Given the description of an element on the screen output the (x, y) to click on. 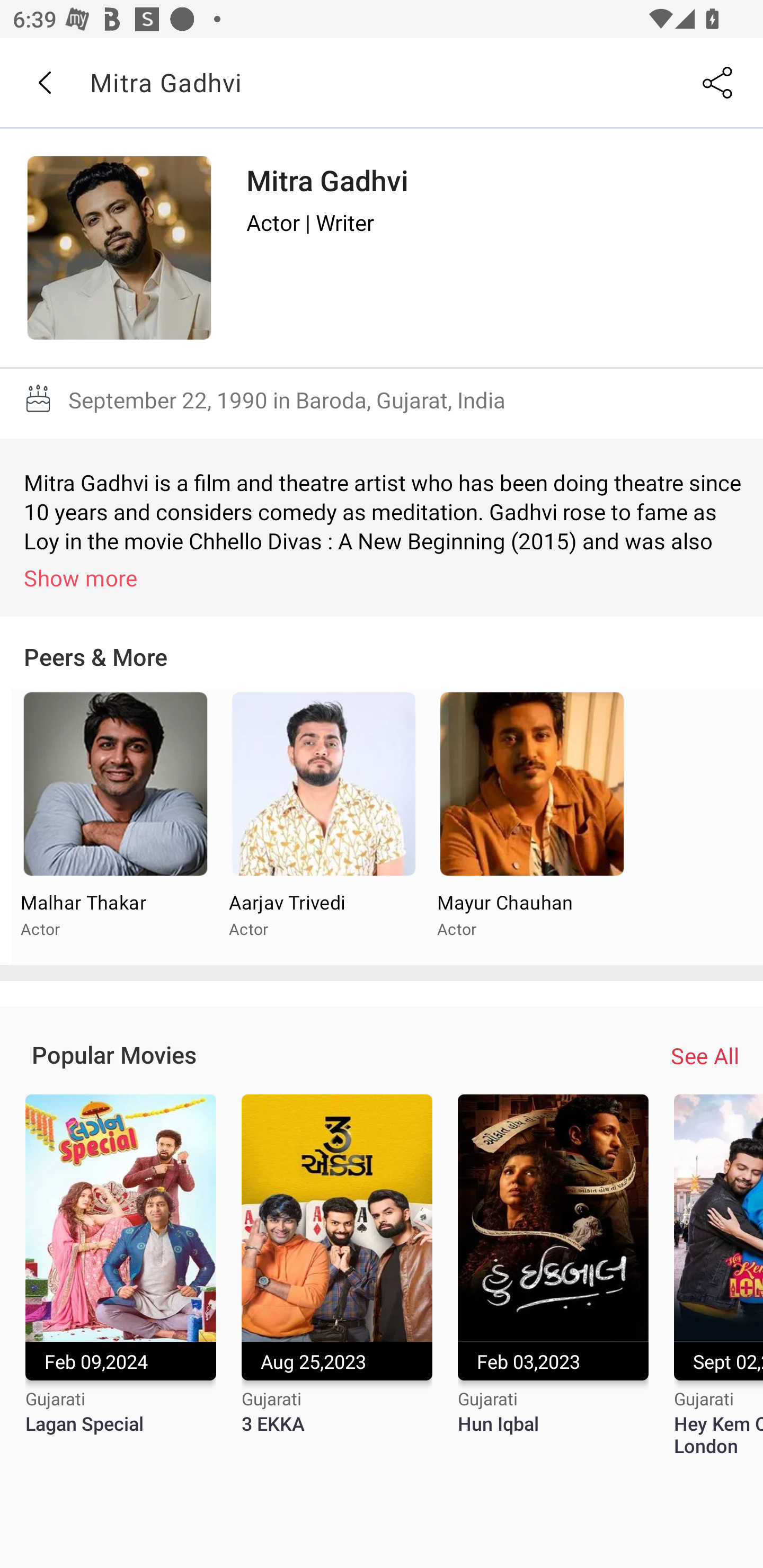
Back (44, 82)
Show more (384, 577)
Malhar Thakar Actor (115, 826)
Aarjav Trivedi Actor (323, 826)
Mayur Chauhan Actor (531, 826)
See All (704, 1055)
Feb 09,2024 Gujarati Lagan Special (120, 1276)
Aug 25,2023 Gujarati 3 EKKA (336, 1276)
Feb 03,2023 Gujarati Hun Iqbal (552, 1276)
